Given the description of an element on the screen output the (x, y) to click on. 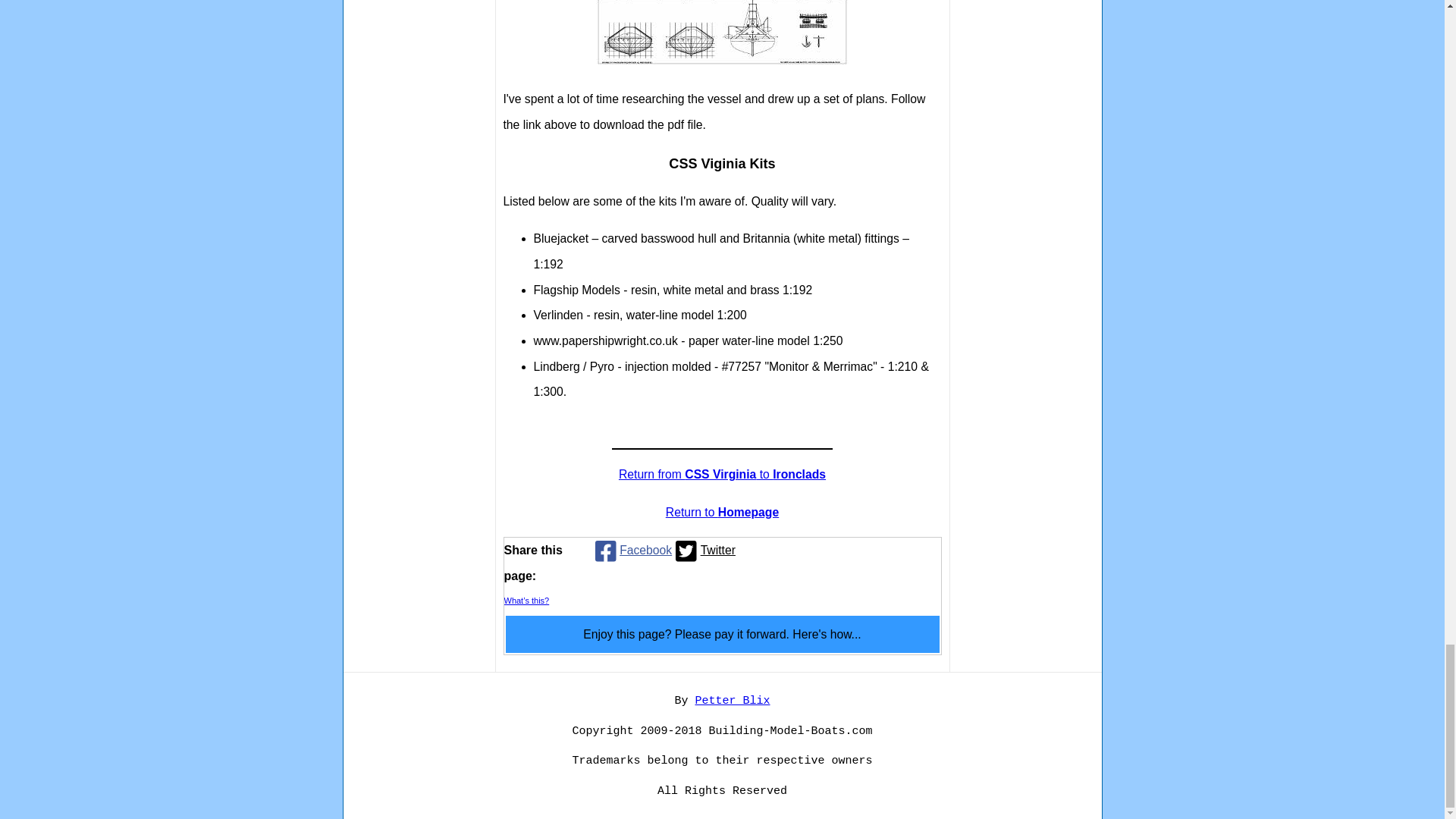
Facebook (631, 550)
Return to Homepage (721, 512)
Petter Blix (732, 700)
Twitter (703, 550)
Return from CSS Virginia to Ironclads (721, 473)
